Given the description of an element on the screen output the (x, y) to click on. 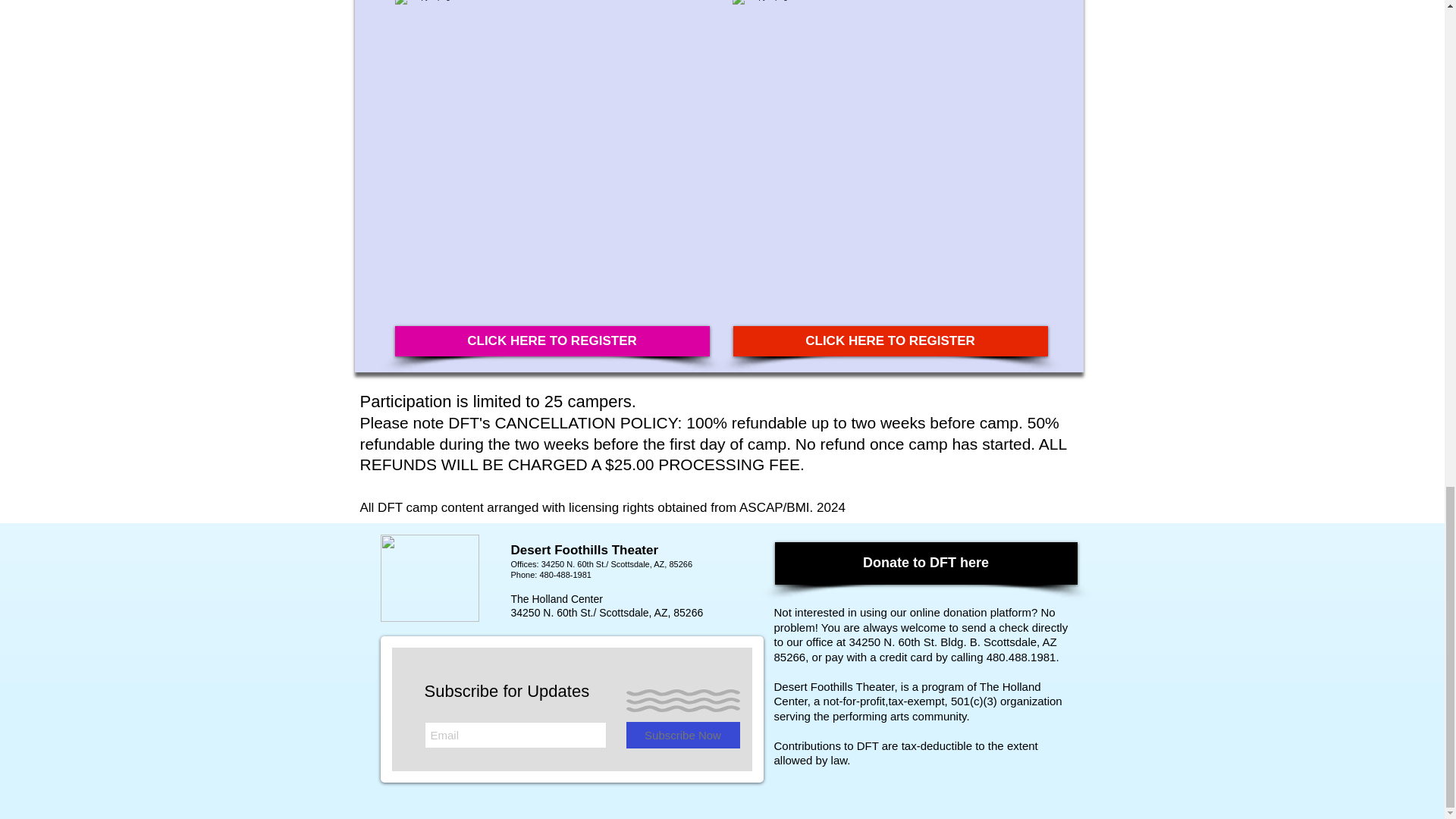
Subscribe Now (682, 734)
CLICK HERE TO REGISTER (551, 340)
Donate to DFT here (925, 563)
vbo (517, 646)
CLICK HERE TO REGISTER (889, 340)
18-19 DFT Logo.png (429, 577)
